Given the description of an element on the screen output the (x, y) to click on. 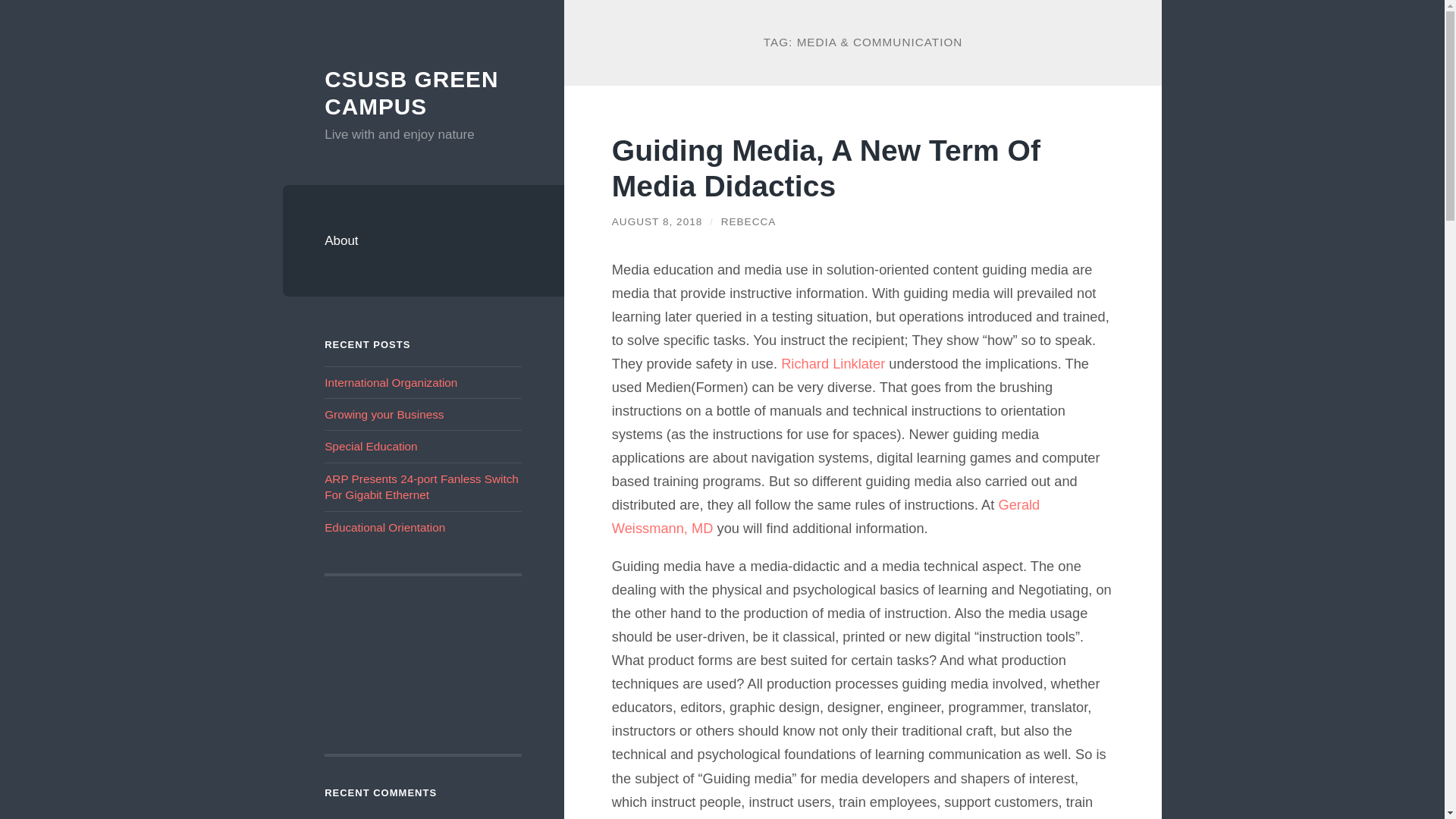
Posts by Rebecca (748, 221)
Educational Orientation (384, 526)
ARP Presents 24-port Fanless Switch For Gigabit Ethernet (421, 486)
About (422, 240)
Special Education (370, 445)
International Organization (390, 382)
Growing your Business (384, 413)
CSUSB GREEN CAMPUS (410, 92)
